Given the description of an element on the screen output the (x, y) to click on. 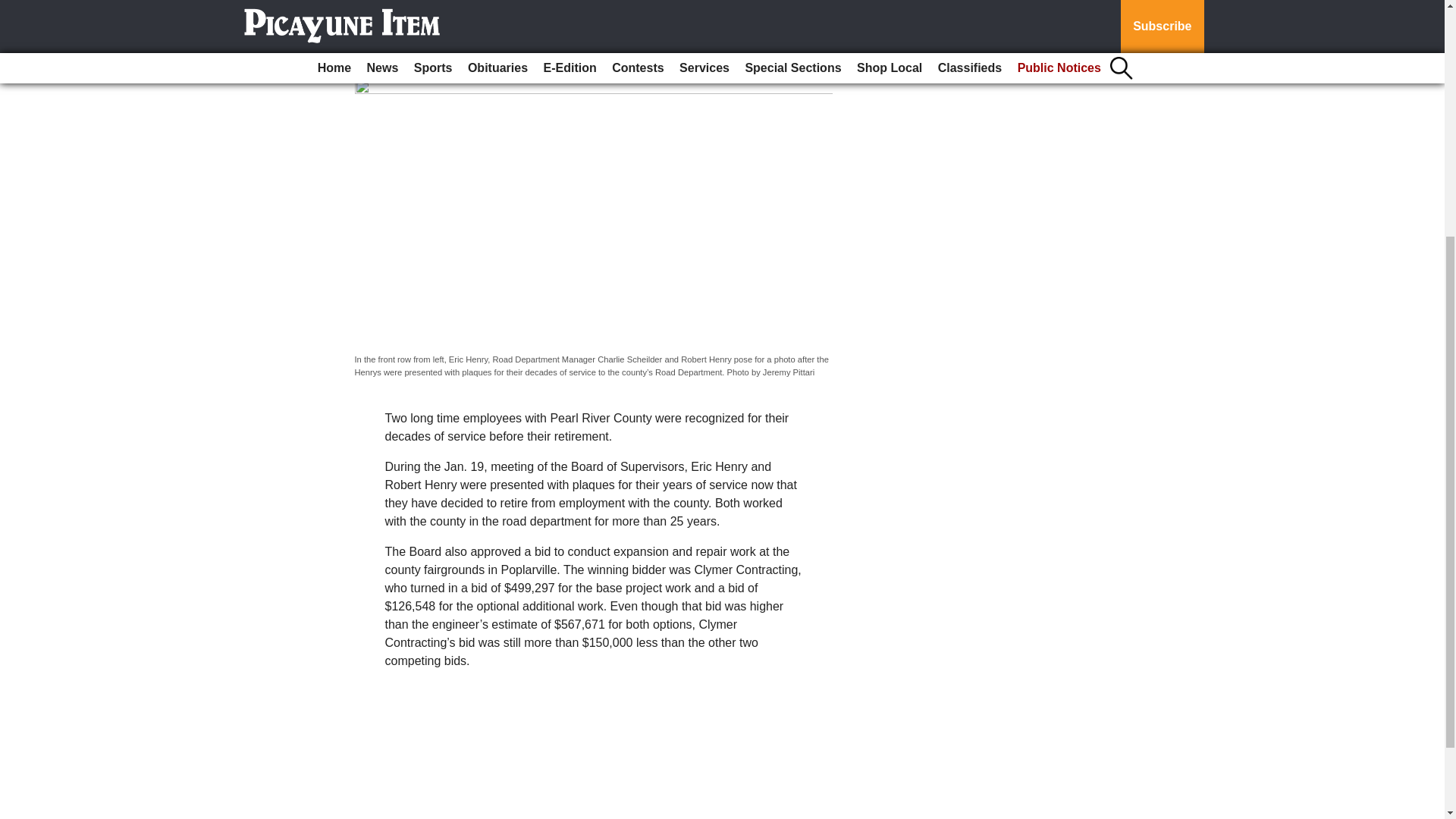
Jeremy Pittari (395, 59)
